Given the description of an element on the screen output the (x, y) to click on. 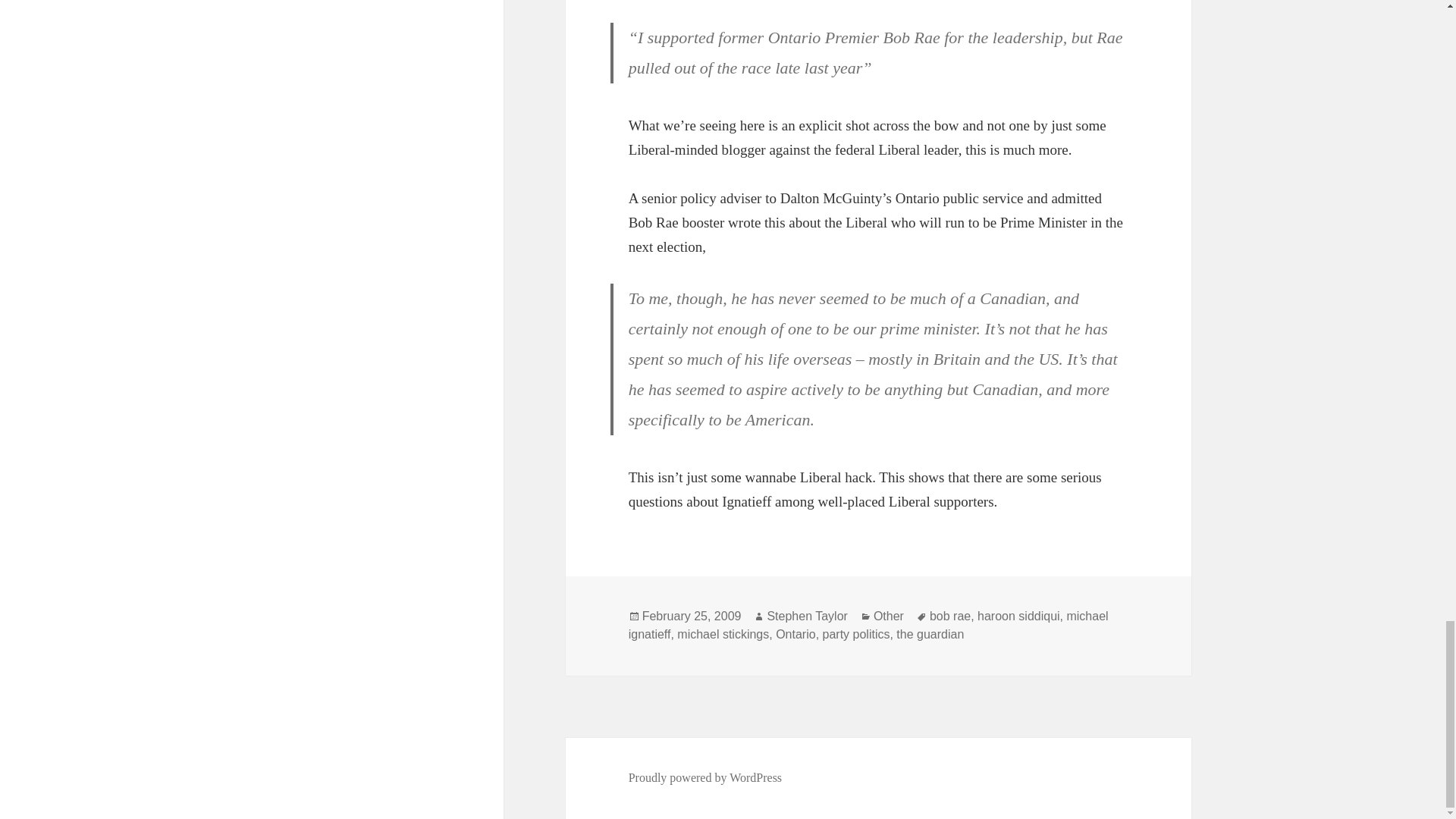
party politics (855, 634)
michael ignatieff (868, 625)
bob rae (950, 616)
Ontario (795, 634)
February 25, 2009 (691, 616)
Other (888, 616)
Stephen Taylor (807, 616)
haroon siddiqui (1017, 616)
michael stickings (722, 634)
